Given the description of an element on the screen output the (x, y) to click on. 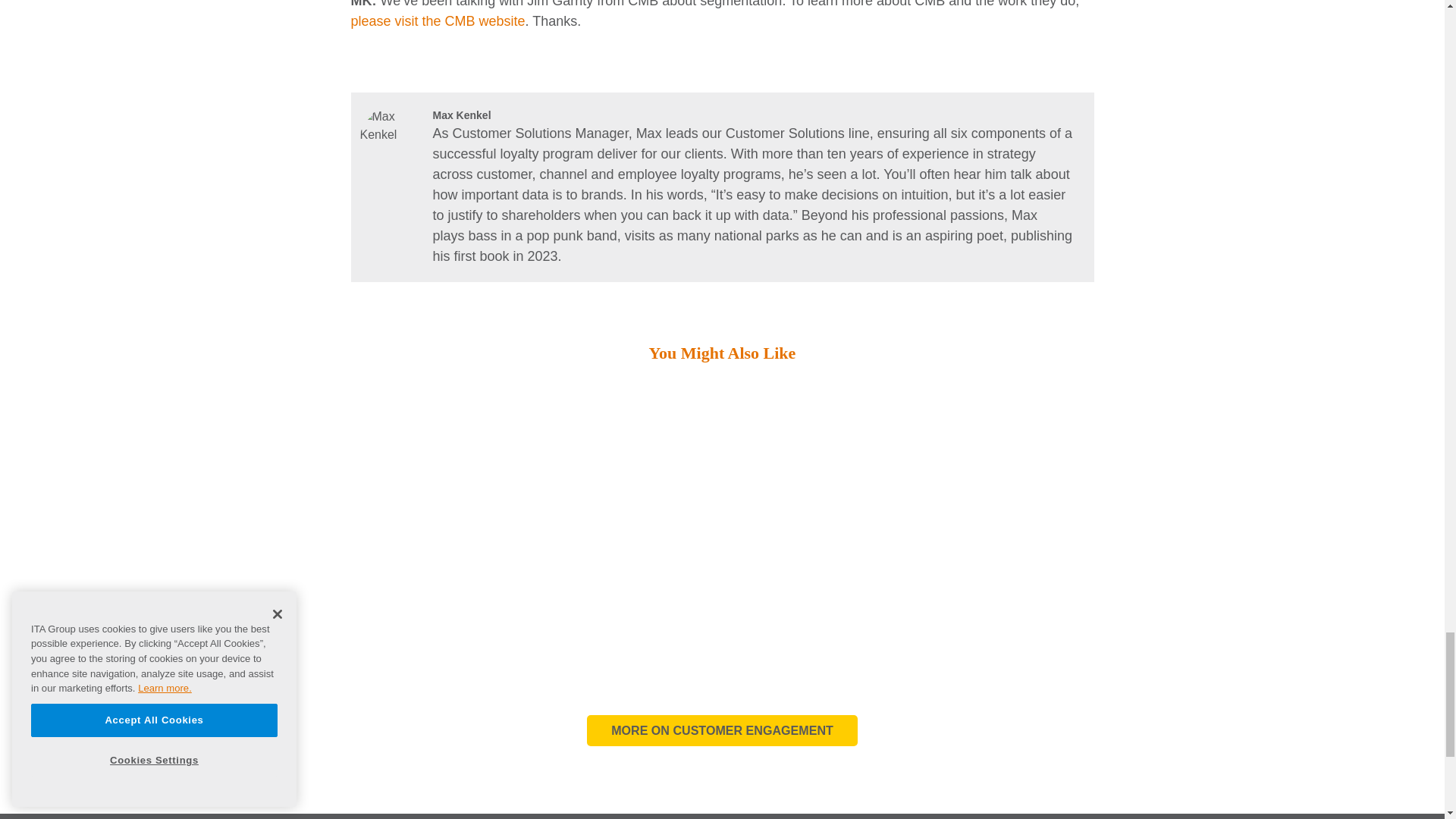
Max Kenkel (389, 137)
